Given the description of an element on the screen output the (x, y) to click on. 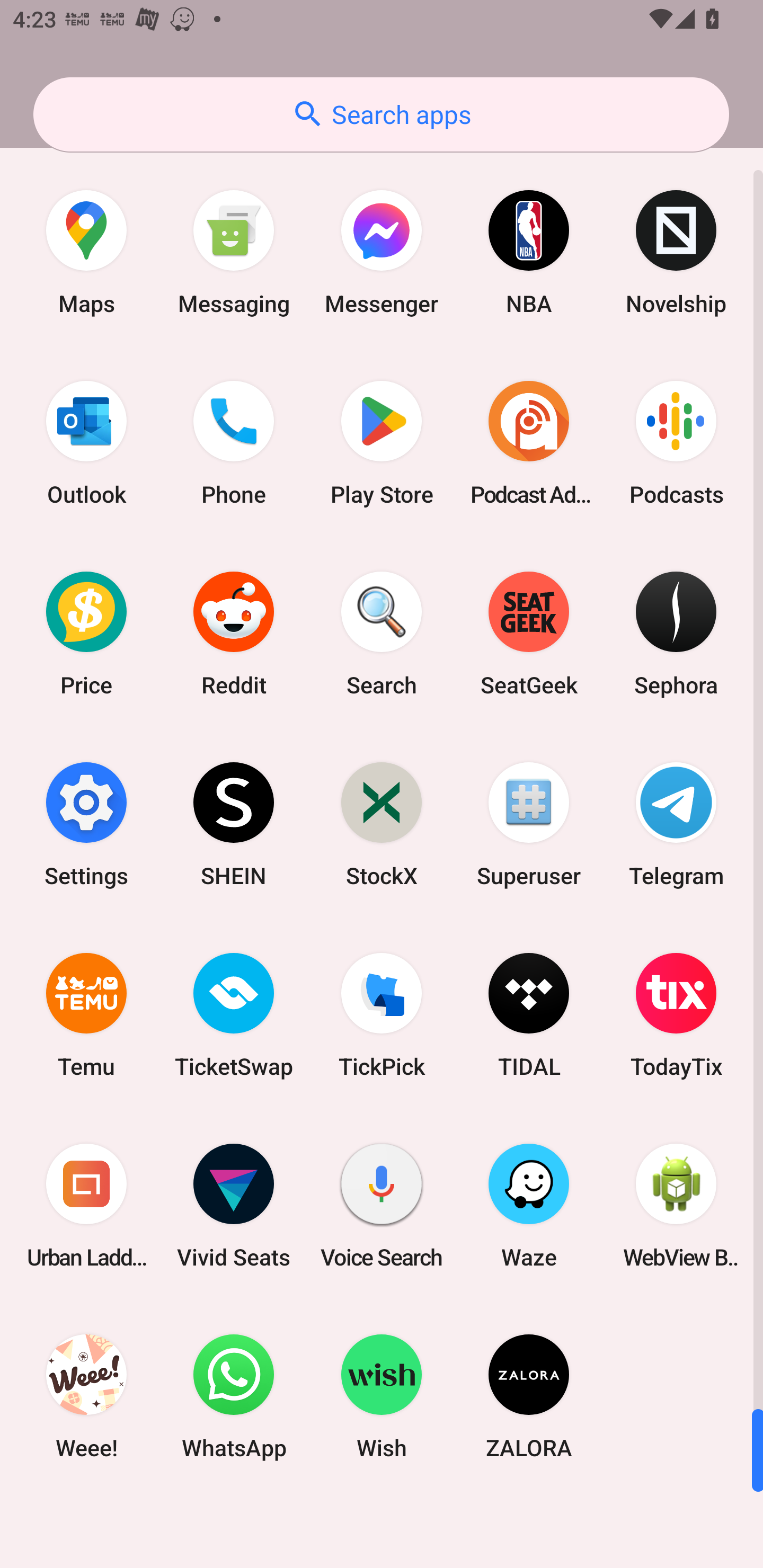
  Search apps (381, 114)
Maps (86, 252)
Messaging (233, 252)
Messenger (381, 252)
NBA (528, 252)
Novelship (676, 252)
Outlook (86, 442)
Phone (233, 442)
Play Store (381, 442)
Podcast Addict (528, 442)
Podcasts (676, 442)
Price (86, 633)
Reddit (233, 633)
Search (381, 633)
SeatGeek (528, 633)
Sephora (676, 633)
Settings (86, 823)
SHEIN (233, 823)
StockX (381, 823)
Superuser (528, 823)
Telegram (676, 823)
Temu (86, 1014)
TicketSwap (233, 1014)
TickPick (381, 1014)
TIDAL (528, 1014)
TodayTix (676, 1014)
Urban Ladder (86, 1205)
Vivid Seats (233, 1205)
Voice Search (381, 1205)
Waze (528, 1205)
WebView Browser Tester (676, 1205)
Weee! (86, 1396)
WhatsApp (233, 1396)
Wish (381, 1396)
ZALORA (528, 1396)
